Given the description of an element on the screen output the (x, y) to click on. 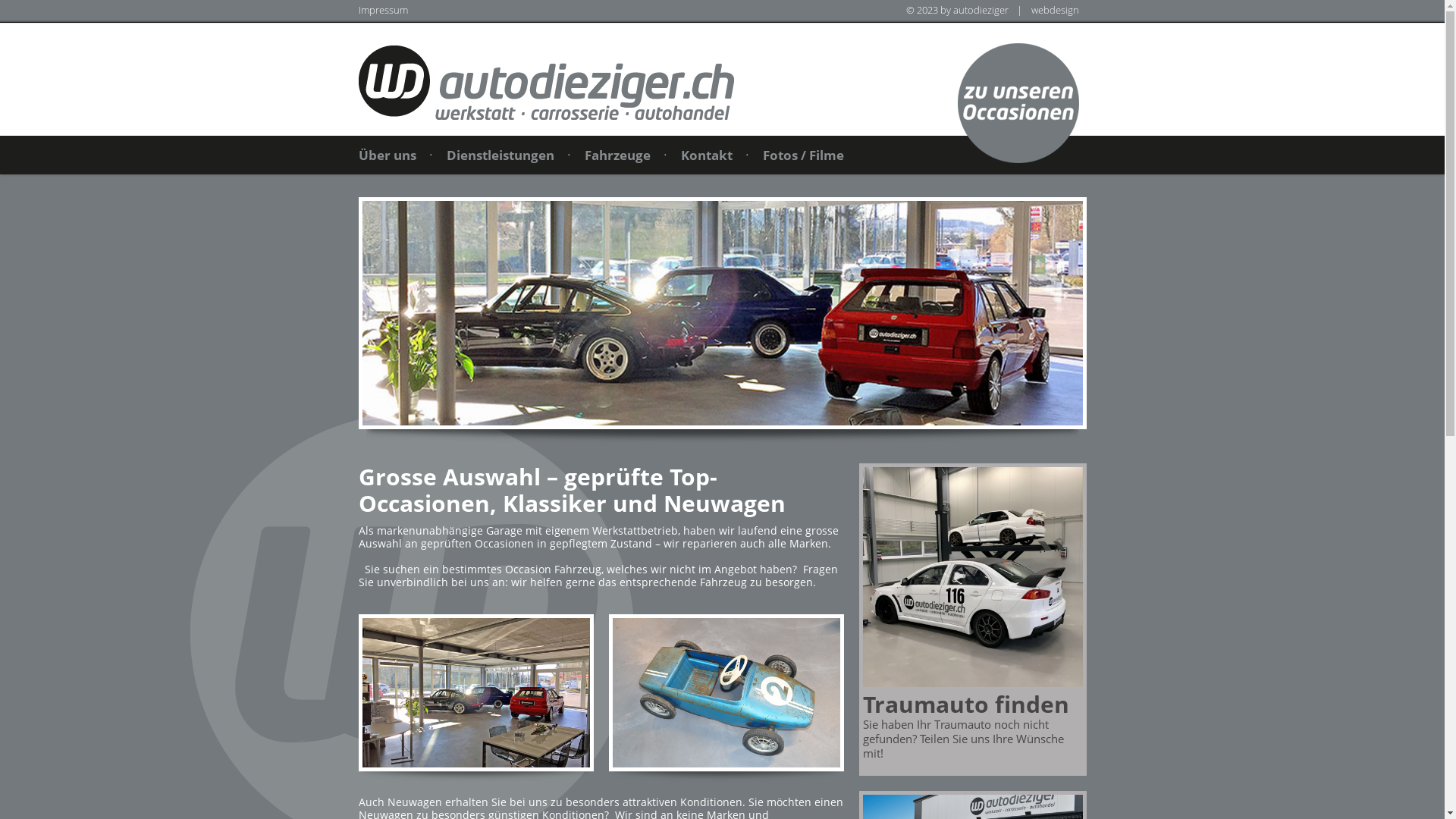
Impressum Element type: text (382, 9)
Kontakt Element type: text (706, 154)
Dienstleistungen Element type: text (499, 154)
webdesign Element type: text (1055, 9)
entsprechende Fahrzeug zu besorgen Element type: text (715, 581)
Fotos / Filme Element type: text (803, 154)
Fahrzeuge Element type: text (616, 154)
